Given the description of an element on the screen output the (x, y) to click on. 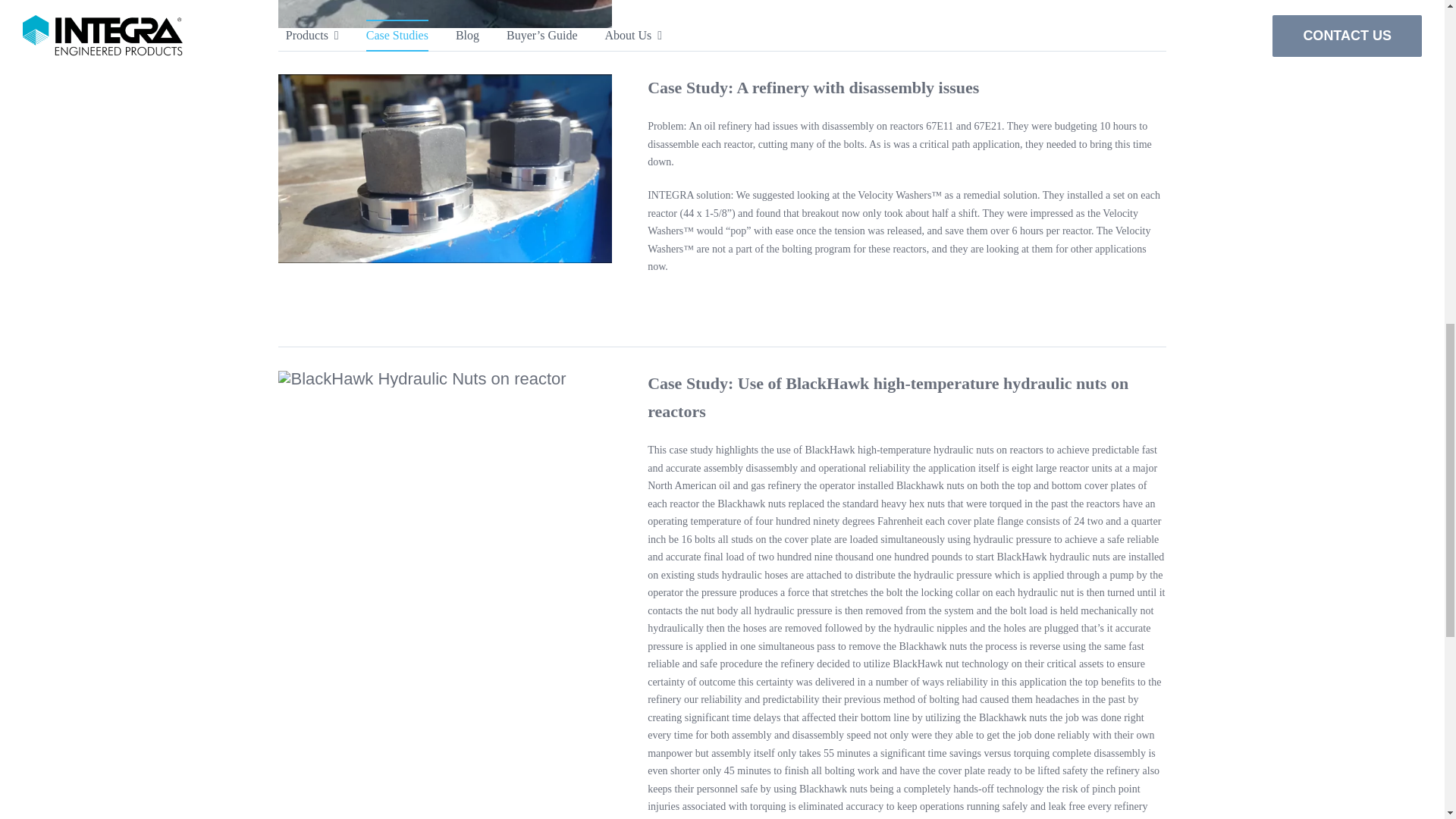
BlackHawk Hydraulic Nuts (444, 14)
BlackHawk Hydraulic Nuts on reactor (422, 379)
Velocity Washer on Flange (444, 168)
